Given the description of an element on the screen output the (x, y) to click on. 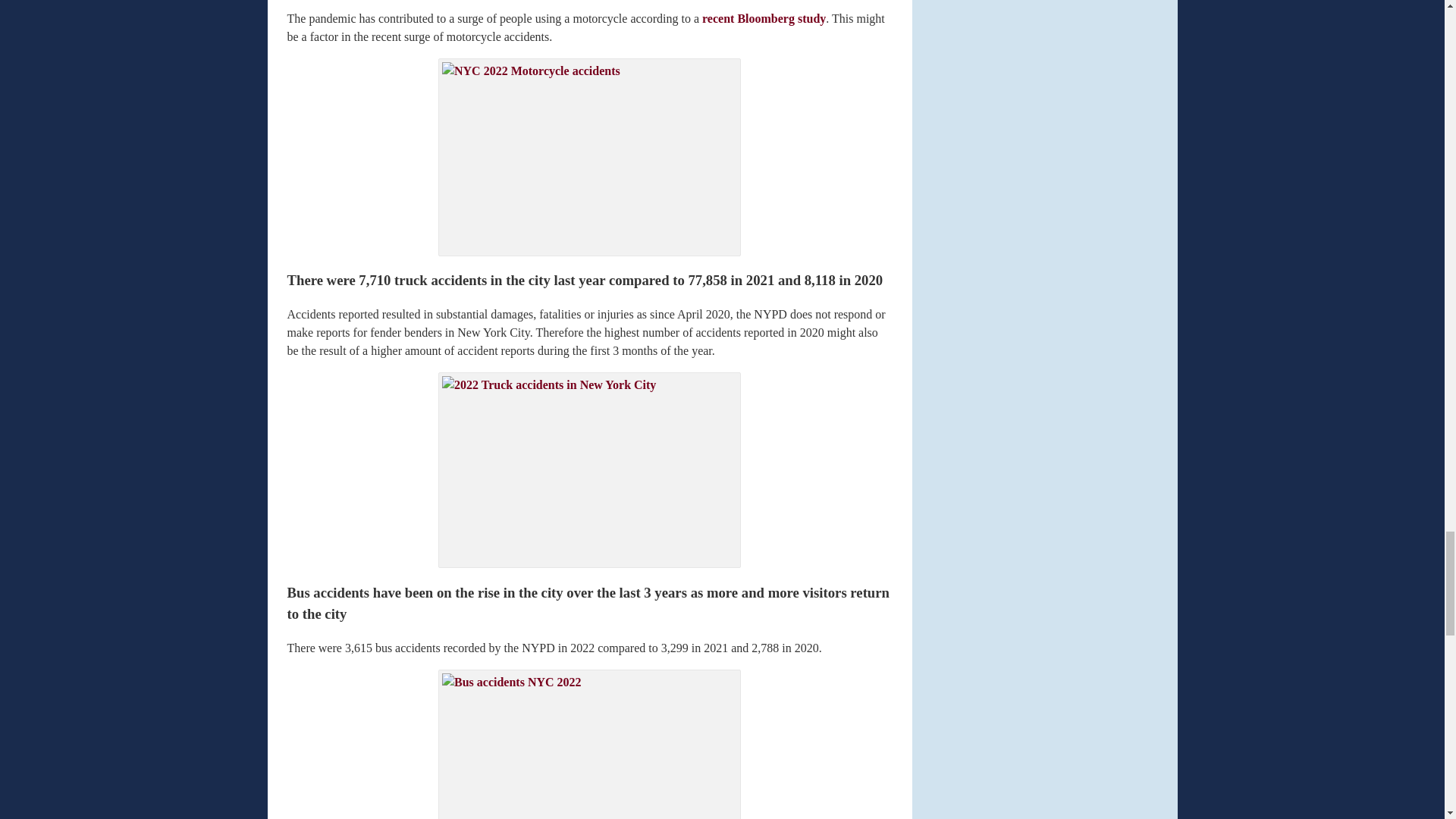
recent Bloomberg study (763, 18)
